Given the description of an element on the screen output the (x, y) to click on. 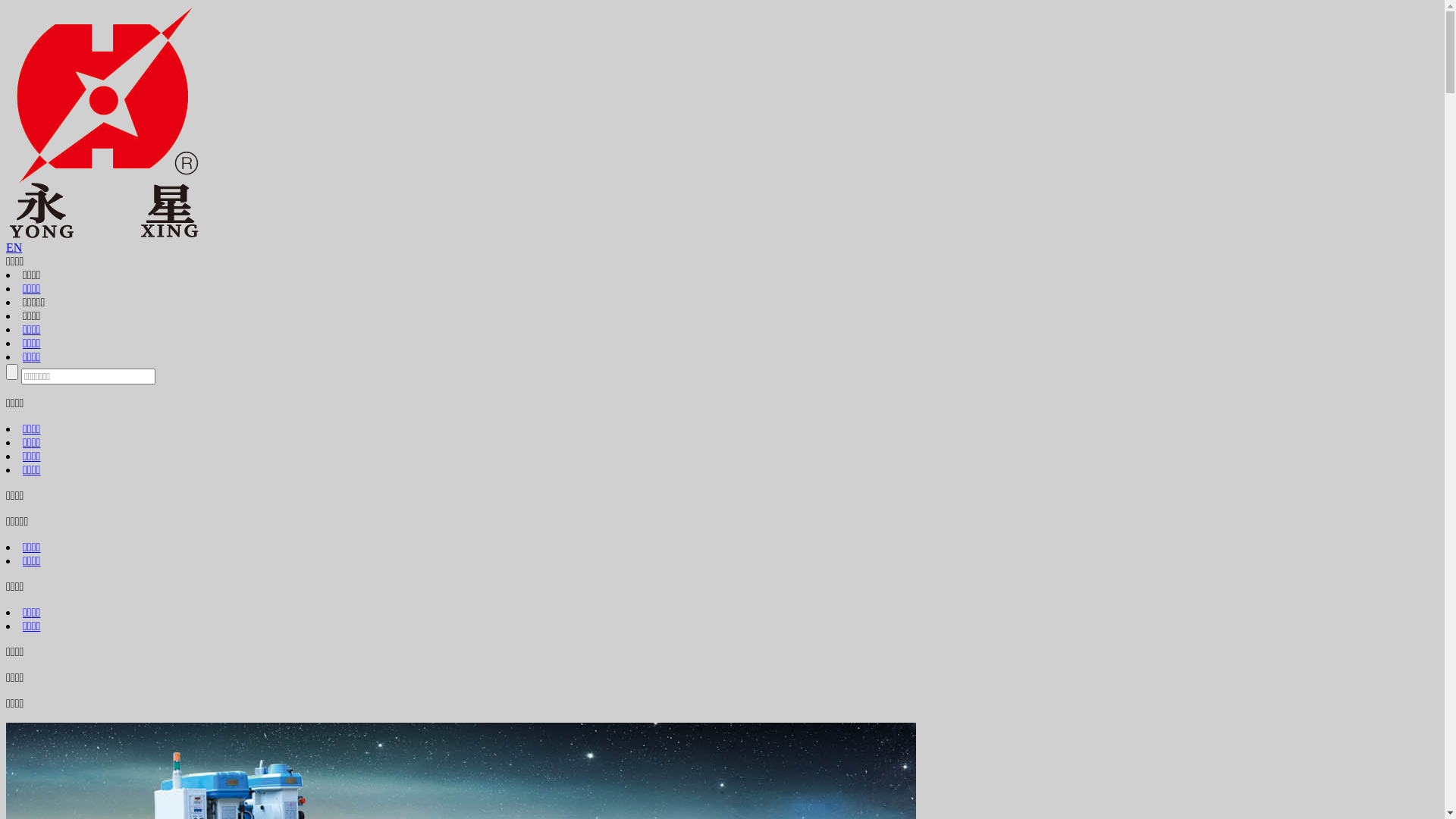
EN Element type: text (13, 247)
